Given the description of an element on the screen output the (x, y) to click on. 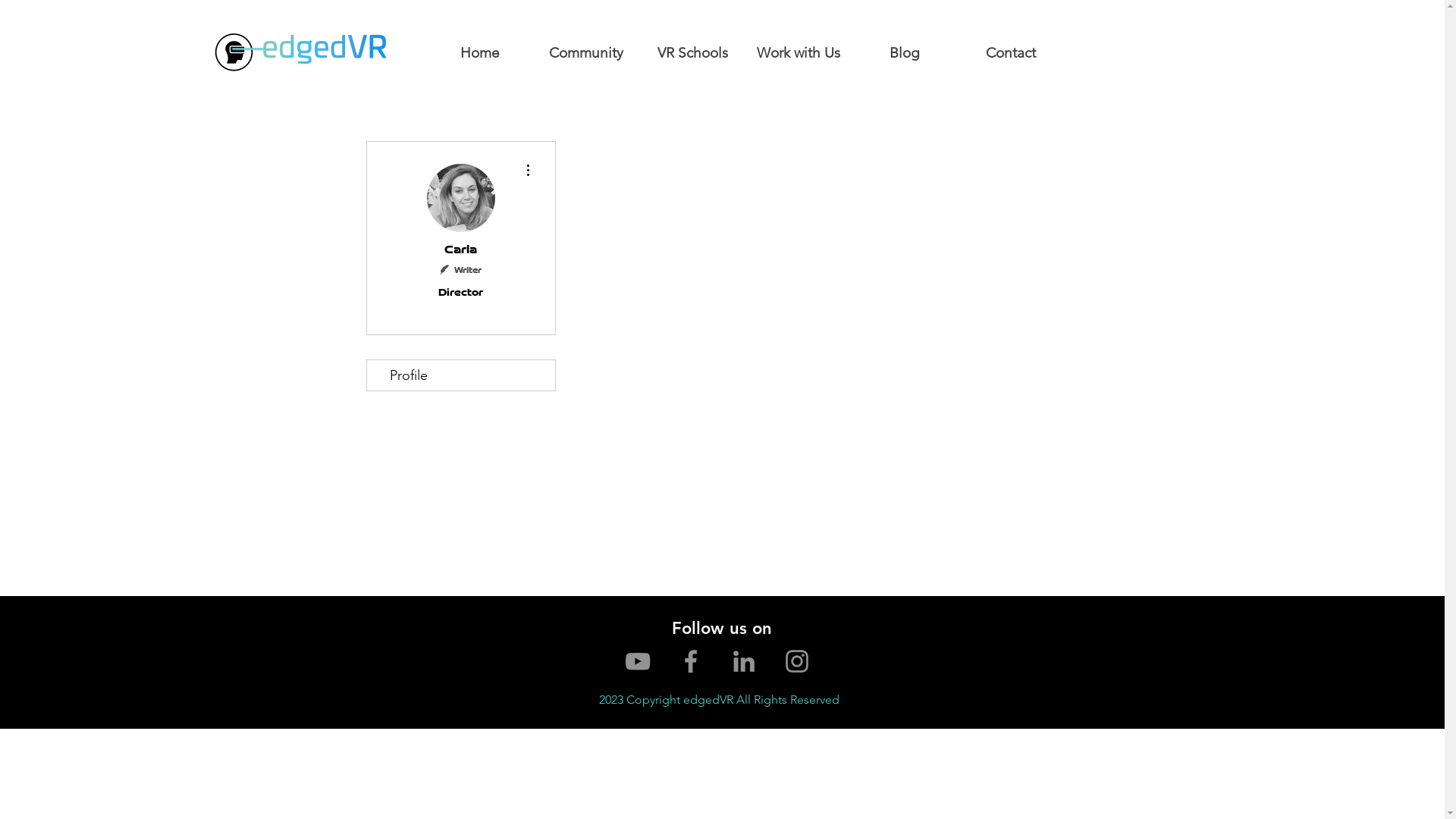
VR Schools Element type: text (692, 52)
Community Element type: text (586, 52)
Home Element type: text (479, 52)
Blog Element type: text (904, 52)
Profile Element type: text (461, 375)
Work with Us Element type: text (798, 52)
Contact Element type: text (1010, 52)
